Given the description of an element on the screen output the (x, y) to click on. 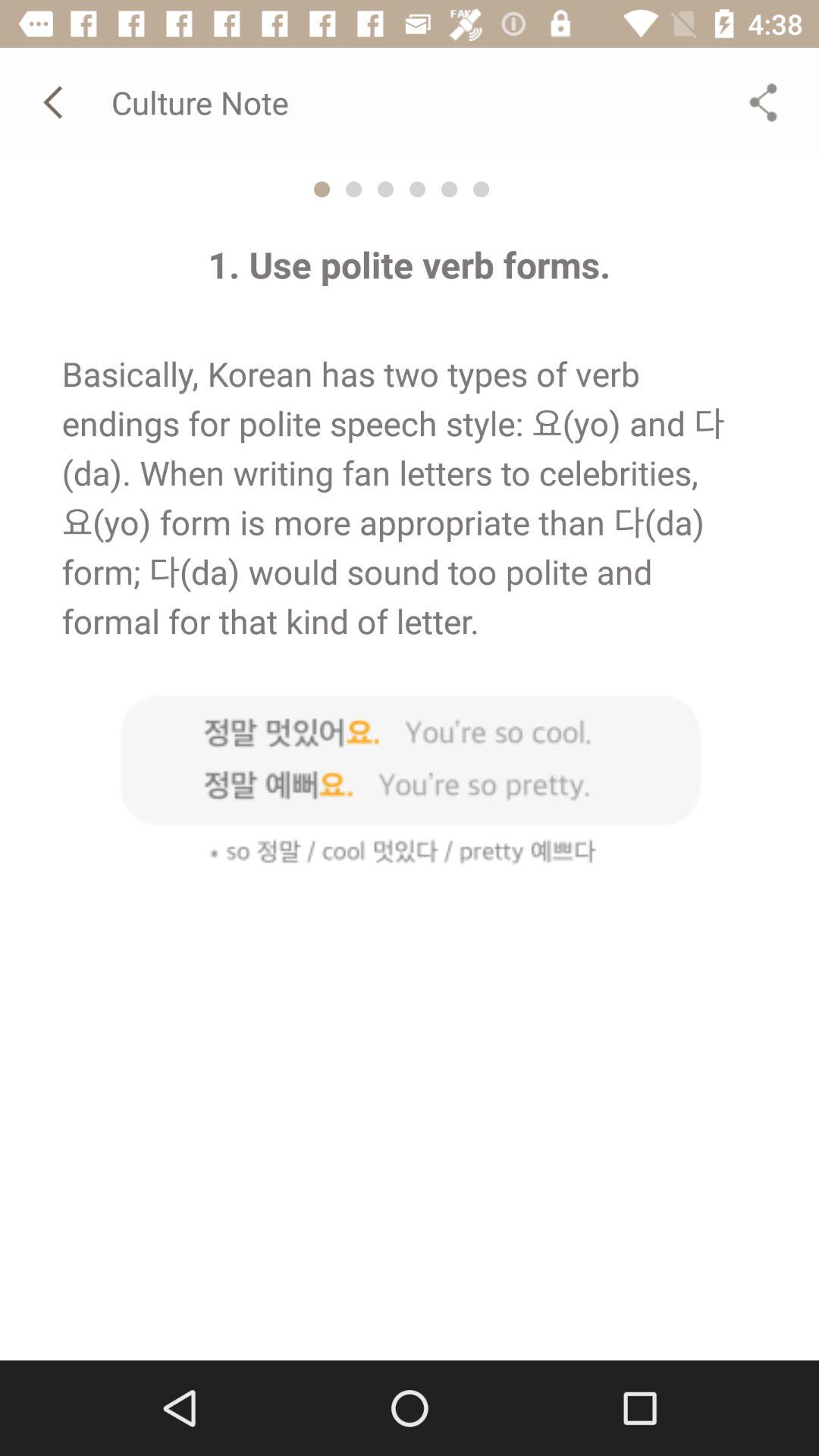
select the arrow button to the immediate left of culture note (55, 102)
